Given the description of an element on the screen output the (x, y) to click on. 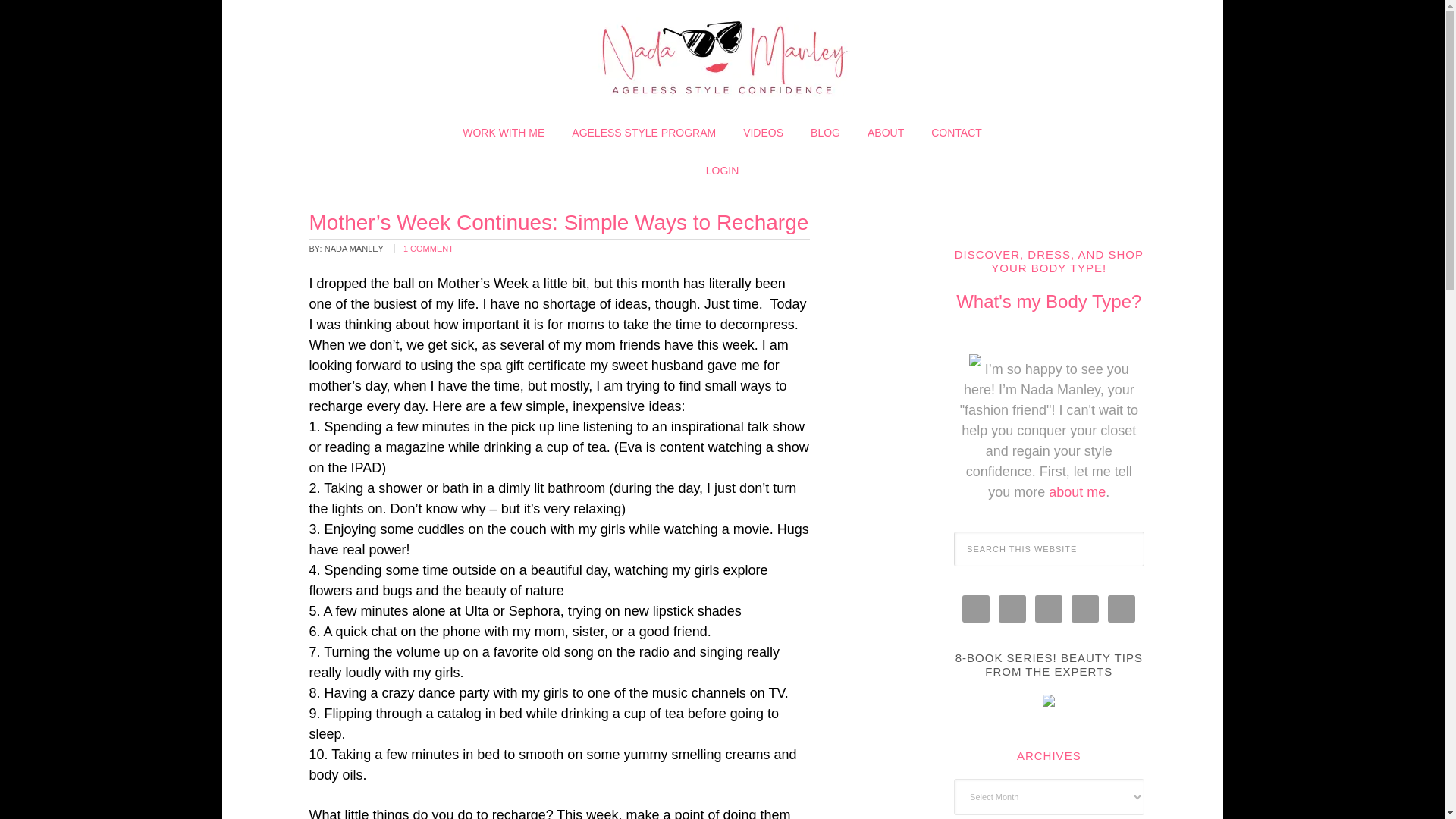
CONTACT (956, 132)
Nada Manley - Fun with Fashion Over 40 (721, 56)
about me (1076, 491)
ABOUT (885, 132)
What's my Body Type? (1048, 301)
WORK WITH ME (502, 132)
8-BOOK SERIES! BEAUTY TIPS FROM THE EXPERTS (1048, 664)
BLOG (824, 132)
1 COMMENT (427, 248)
LOGIN (722, 170)
AGELESS STYLE PROGRAM (643, 132)
VIDEOS (762, 132)
